Given the description of an element on the screen output the (x, y) to click on. 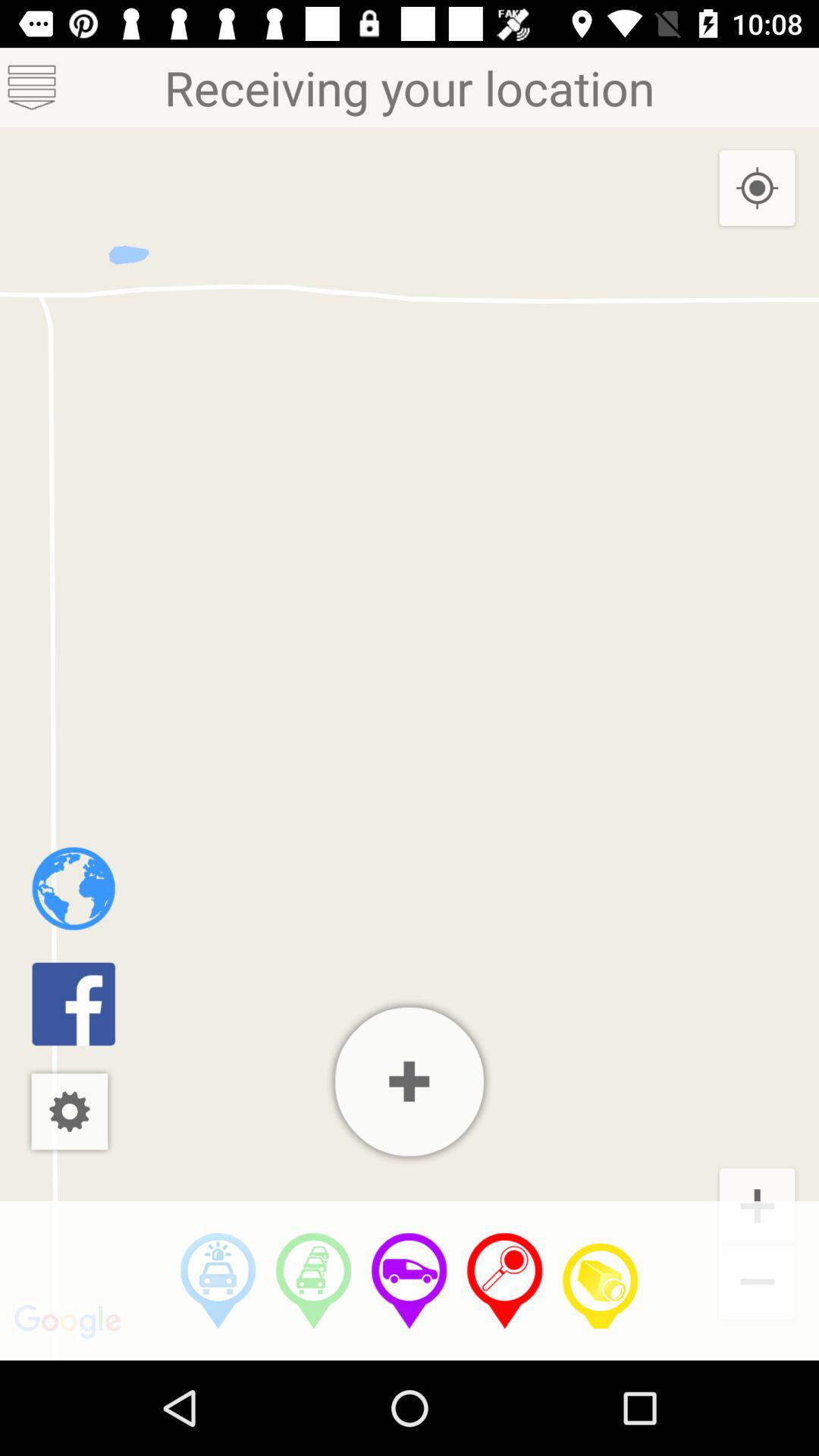
views overhead global view (73, 888)
